Given the description of an element on the screen output the (x, y) to click on. 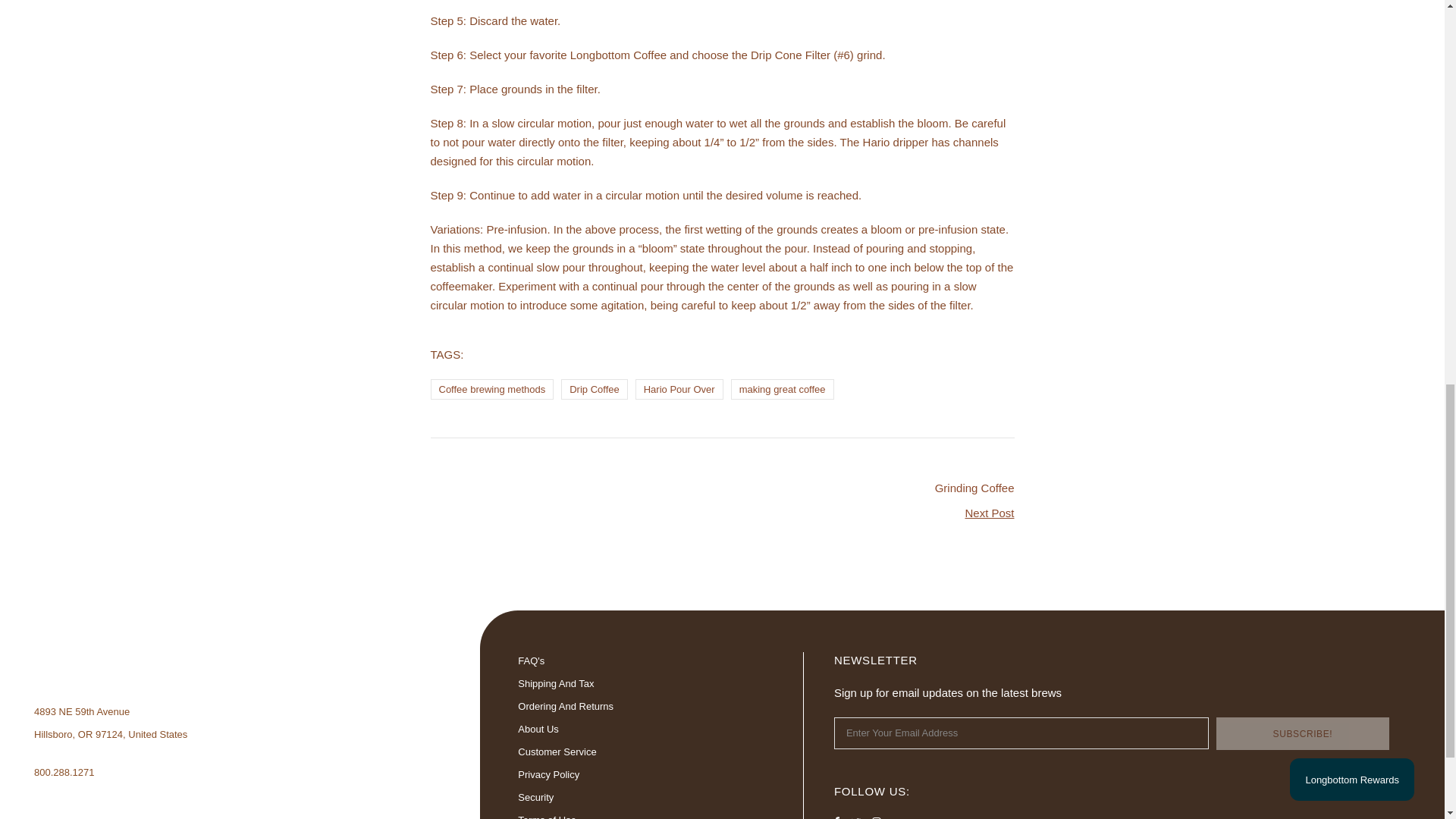
SUBSCRIBE! (1302, 733)
